Given the description of an element on the screen output the (x, y) to click on. 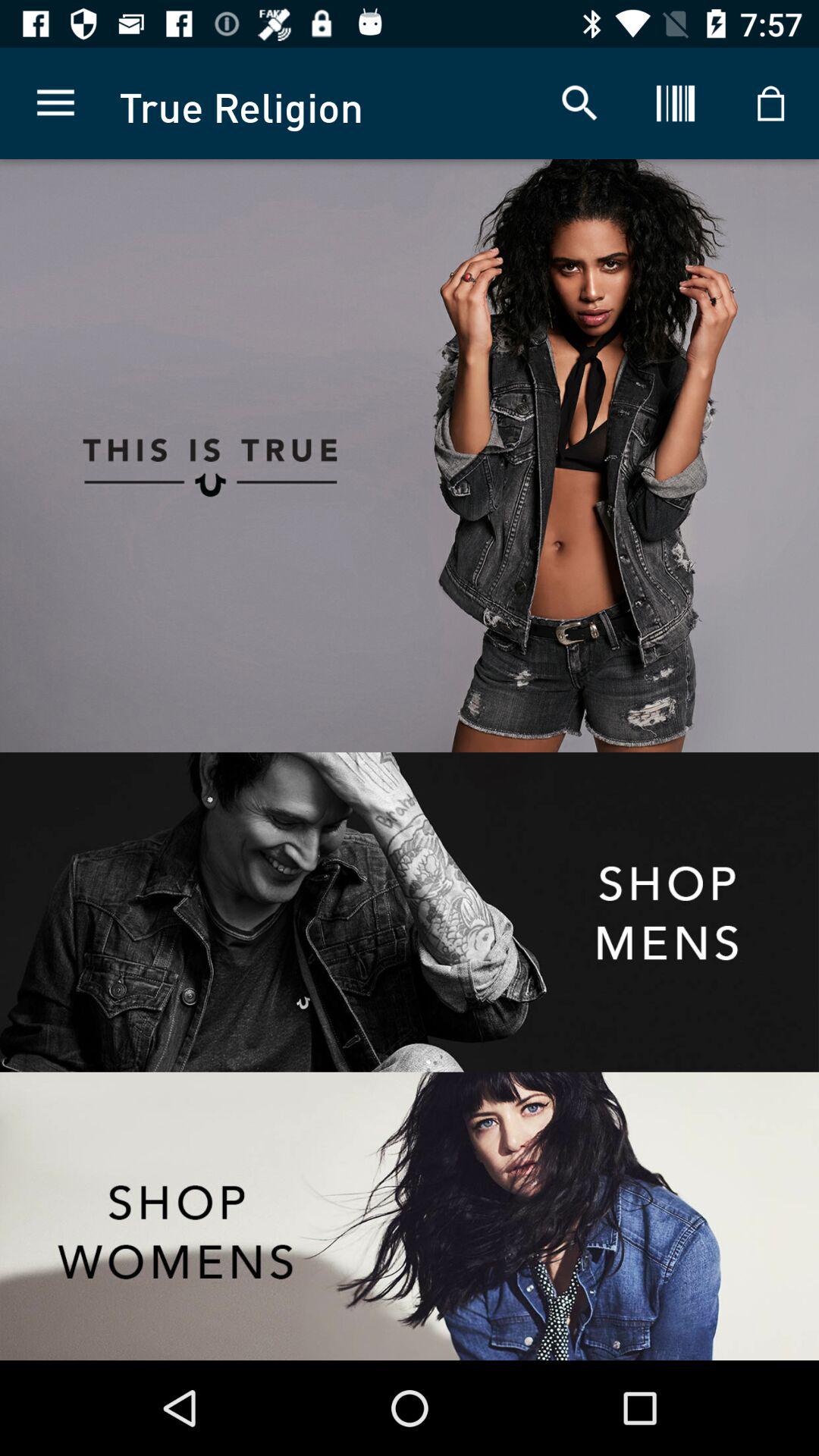
shop this section (409, 1216)
